Given the description of an element on the screen output the (x, y) to click on. 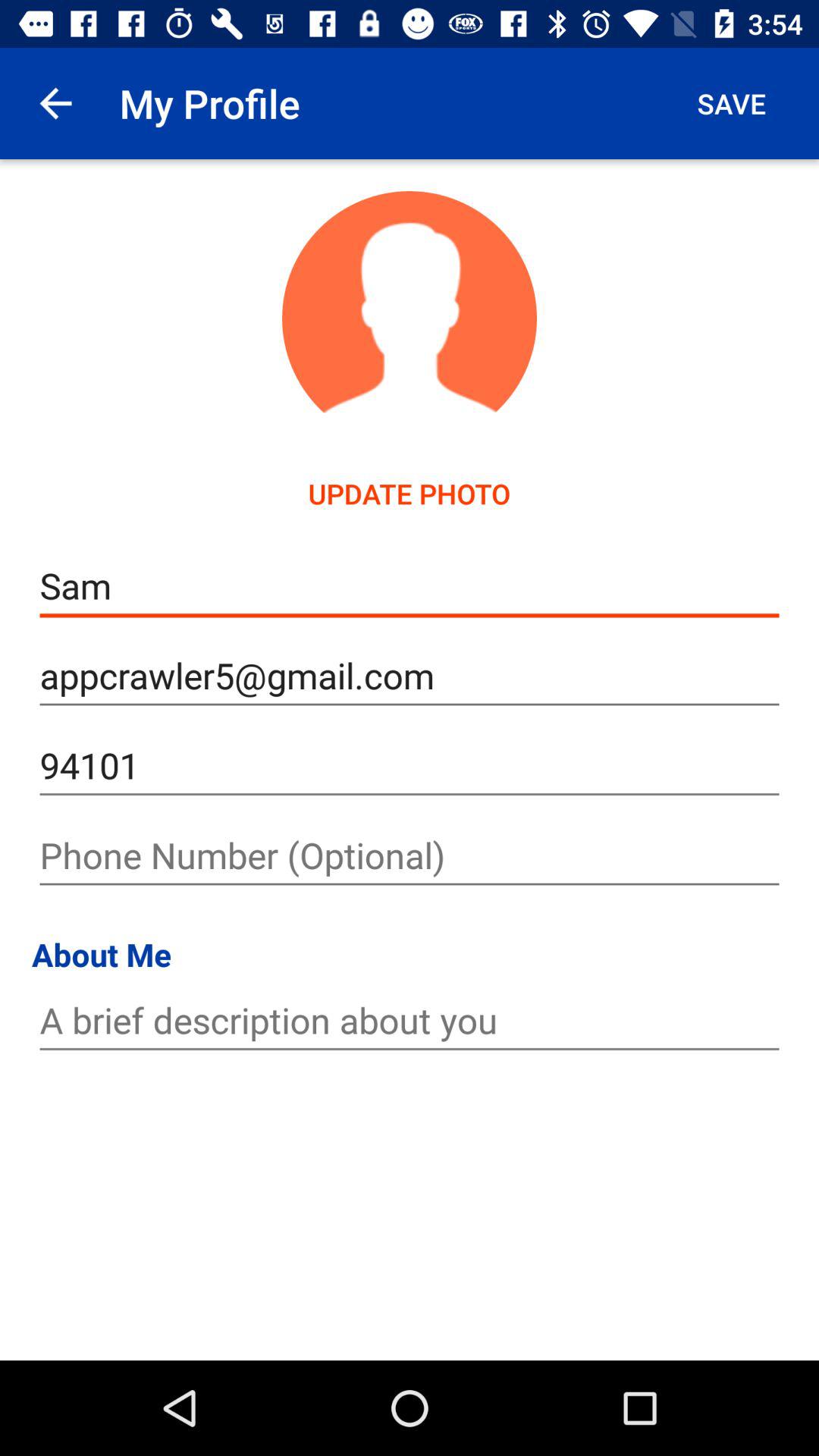
phone number entry (409, 855)
